Given the description of an element on the screen output the (x, y) to click on. 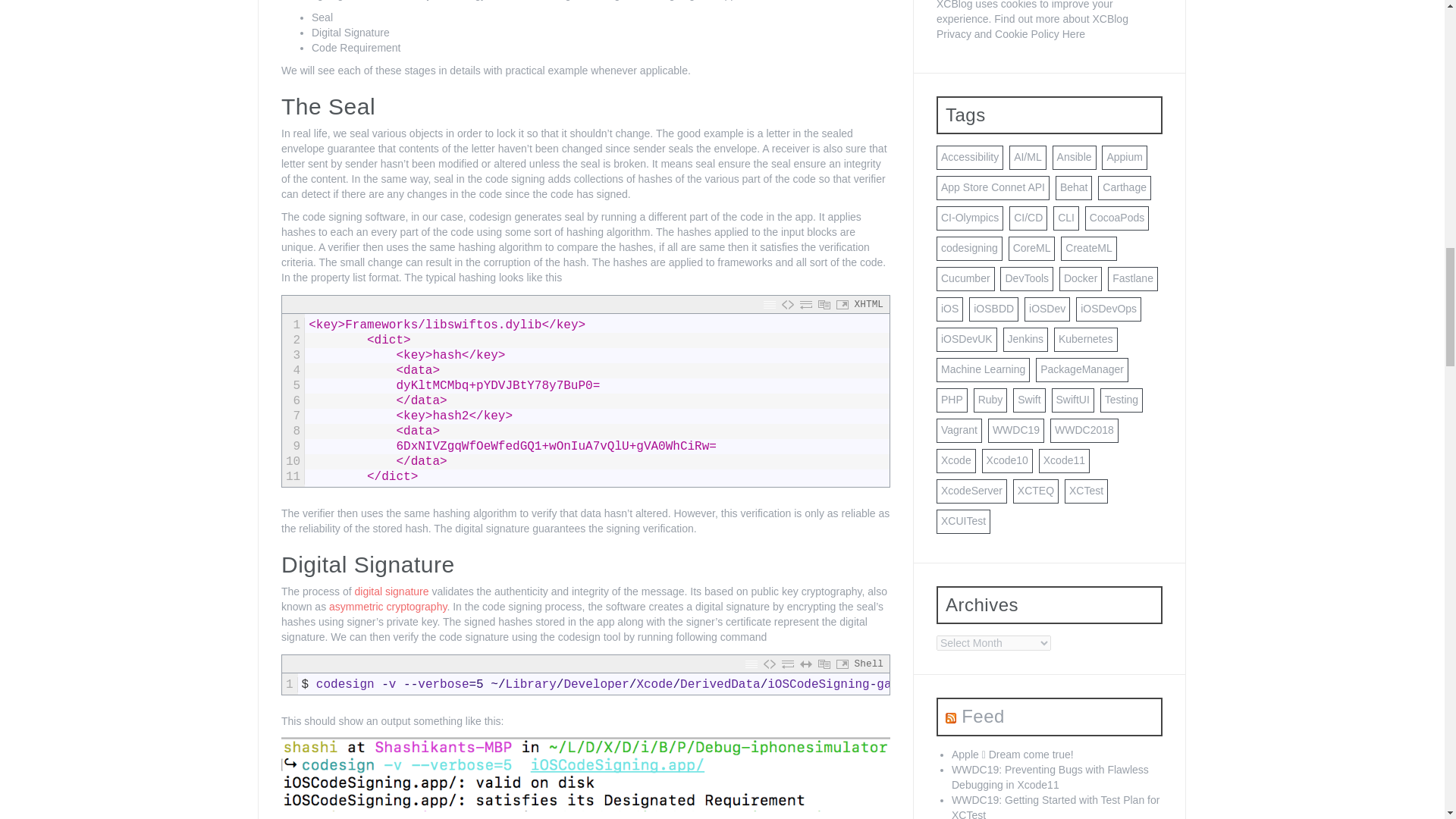
asymmetric cryptography (387, 606)
Copy (823, 304)
Toggle Plain Code (787, 304)
Toggle Line Numbers (769, 304)
Toggle Line Wrap (805, 304)
Open Code In New Window (841, 304)
digital signature (392, 591)
